Given the description of an element on the screen output the (x, y) to click on. 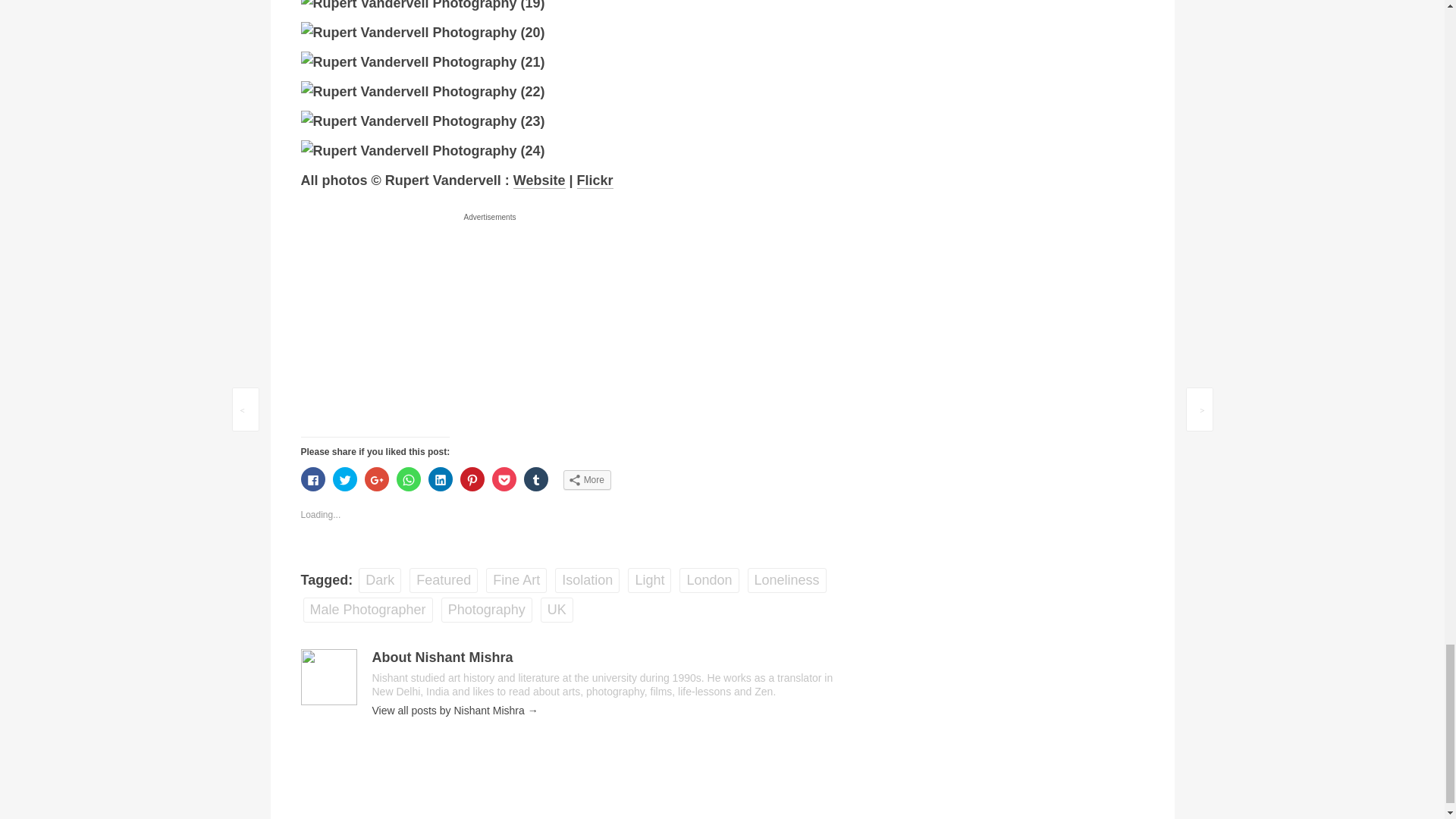
Click to share on Twitter (344, 478)
Click to share on LinkedIn (440, 478)
Click to share on Tumblr (536, 478)
Click to share on Pocket (504, 478)
Share on Facebook (311, 478)
Click to share on WhatsApp (408, 478)
Click to share on Pinterest (472, 478)
